Given the description of an element on the screen output the (x, y) to click on. 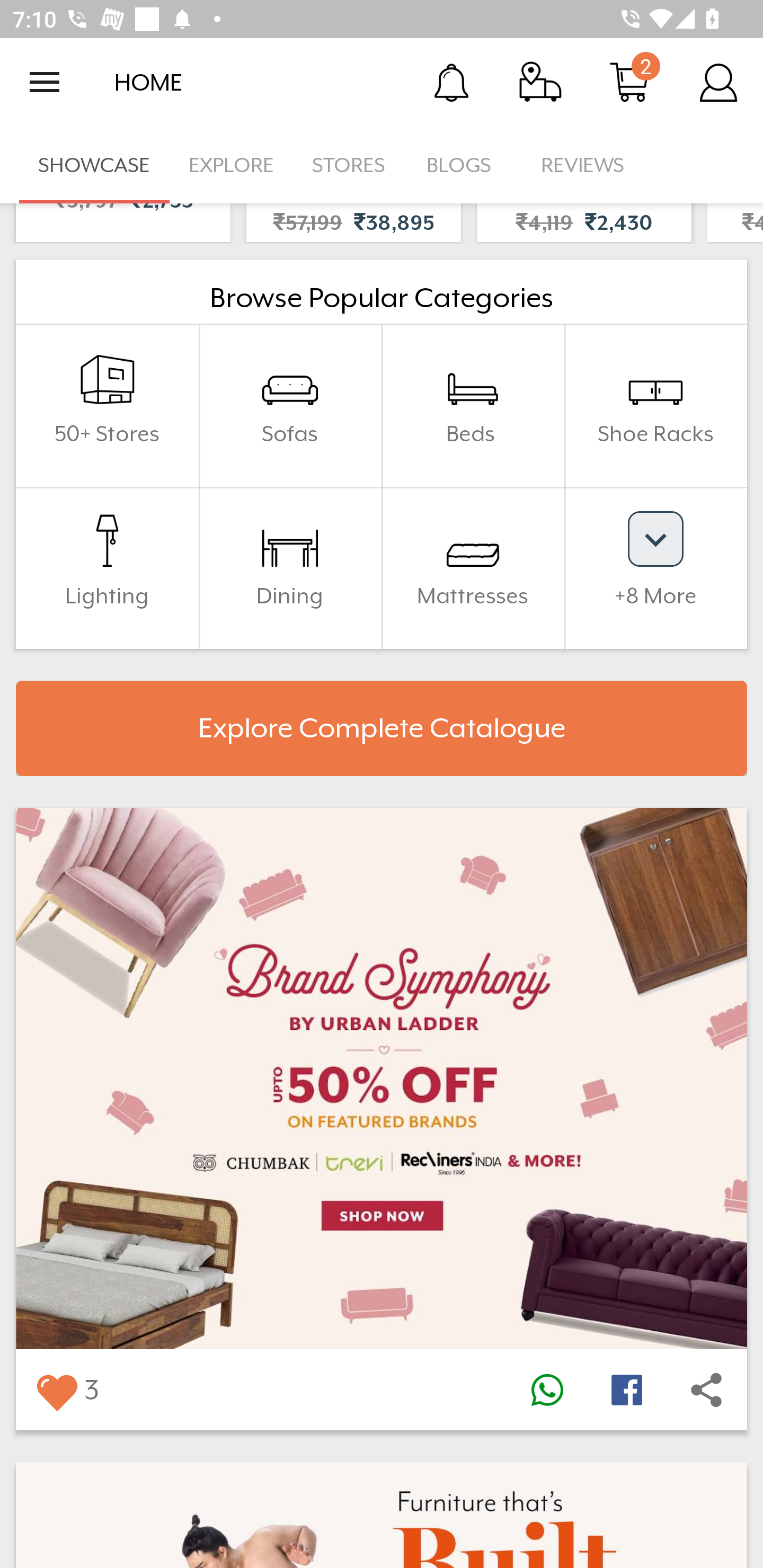
Open navigation drawer (44, 82)
Notification (450, 81)
Track Order (540, 81)
Cart (629, 81)
Account Details (718, 81)
SHOWCASE (94, 165)
EXPLORE (230, 165)
STORES (349, 165)
BLOGS (464, 165)
REVIEWS (582, 165)
50+ Stores (106, 405)
Sofas (289, 405)
Beds  (473, 405)
Shoe Racks (655, 405)
Lighting (106, 567)
Dining (289, 567)
Mattresses (473, 567)
 +8 More (655, 567)
Explore Complete Catalogue (381, 728)
 (55, 1389)
 (547, 1389)
 (626, 1389)
 (706, 1389)
